Given the description of an element on the screen output the (x, y) to click on. 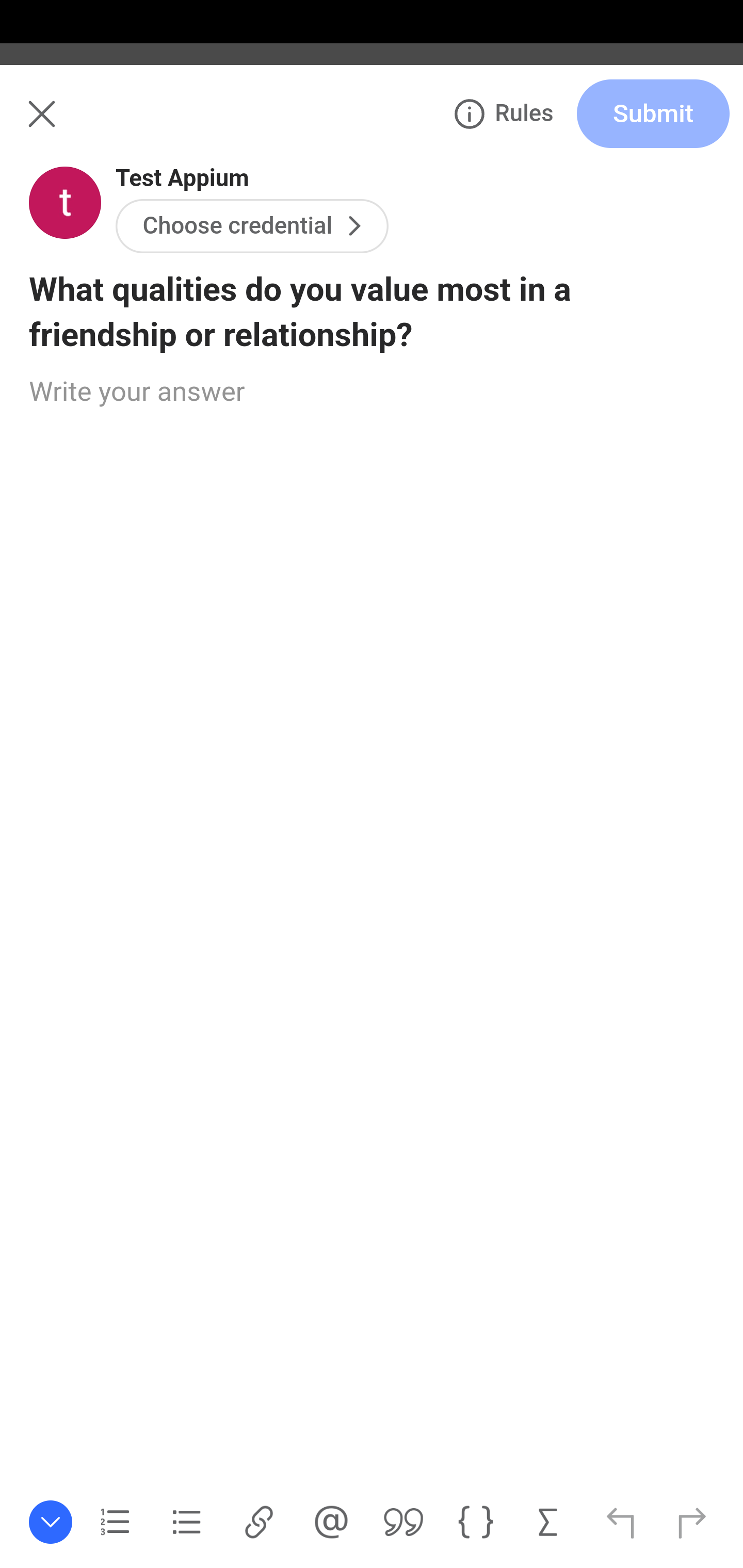
Me Answer Search Add (371, 125)
Me (64, 125)
For you (68, 210)
